Given the description of an element on the screen output the (x, y) to click on. 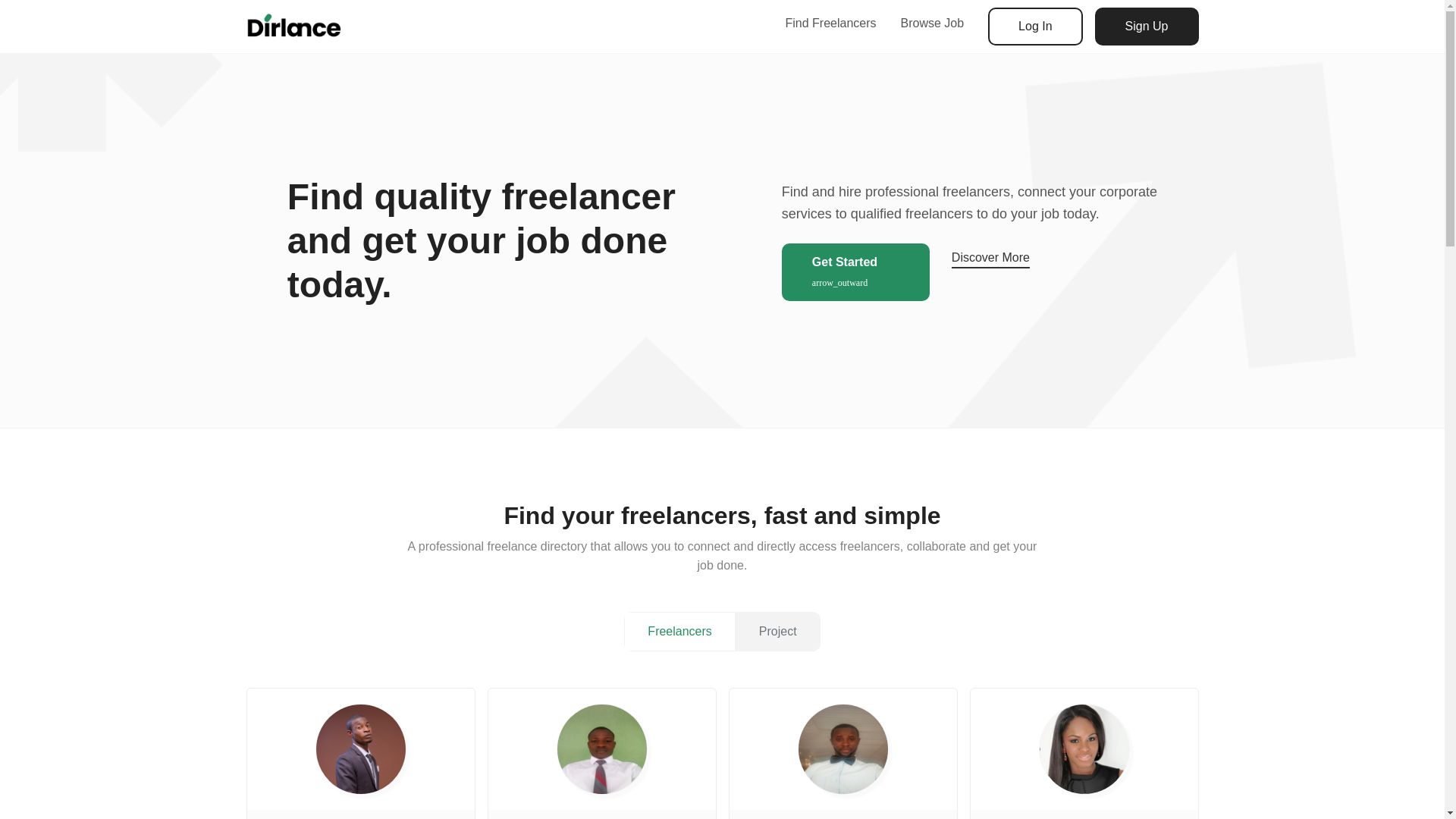
Project (777, 631)
Log In (1034, 26)
Find Freelancers (830, 23)
Discover More (990, 272)
Sign Up (1146, 26)
Browse Job (933, 23)
Freelancers (678, 631)
